Given the description of an element on the screen output the (x, y) to click on. 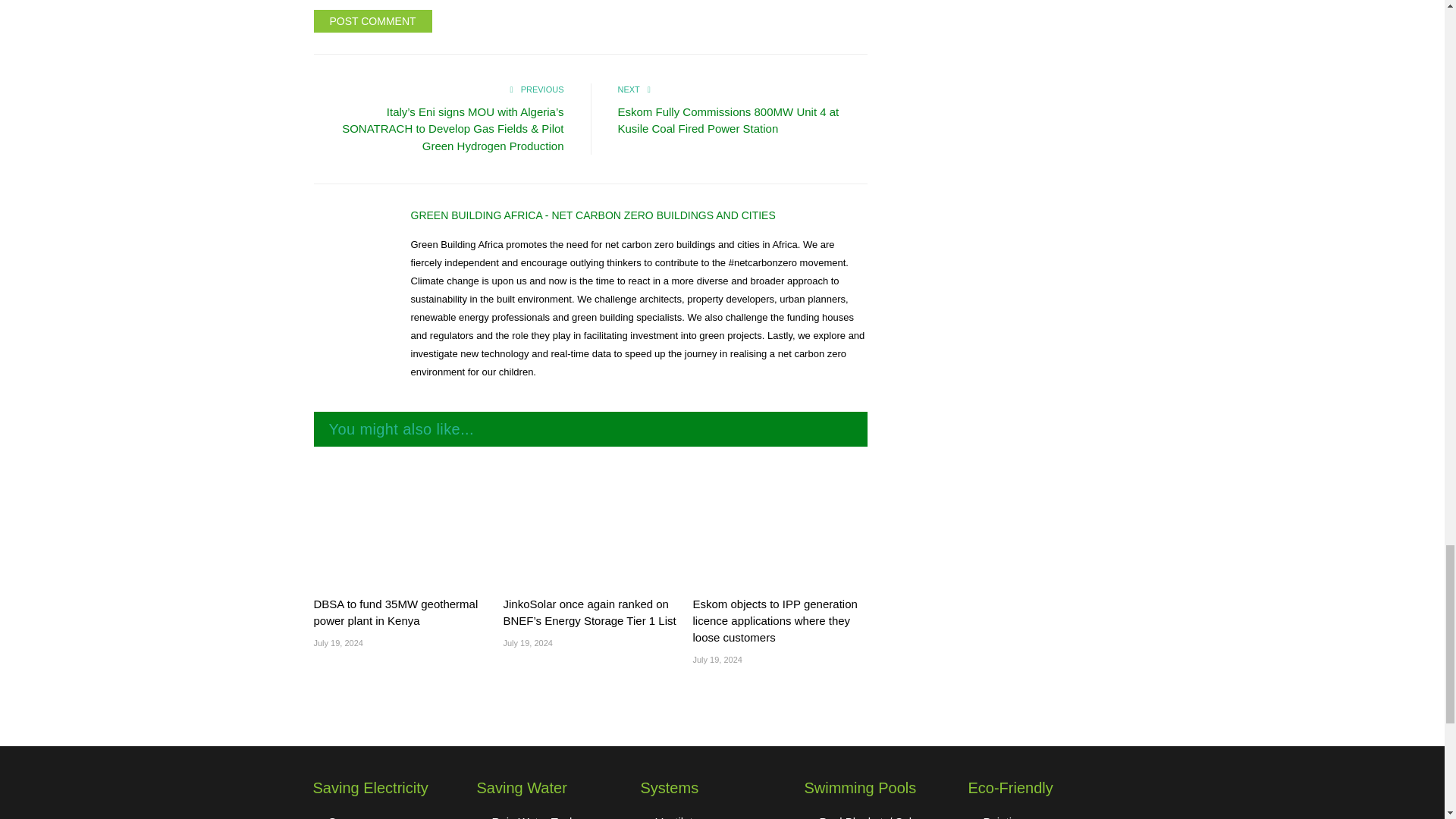
Post Comment (373, 20)
